Given the description of an element on the screen output the (x, y) to click on. 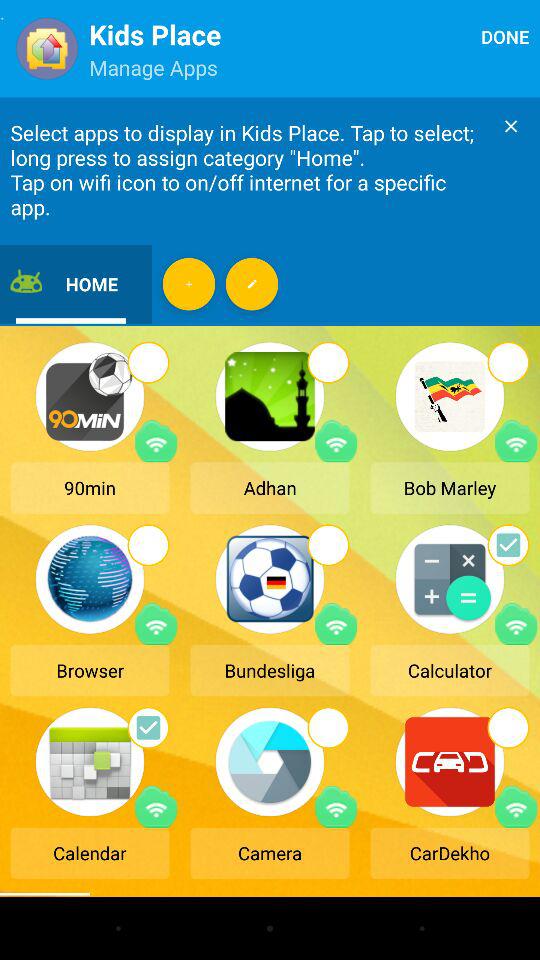
connect to wifi (516, 806)
